Given the description of an element on the screen output the (x, y) to click on. 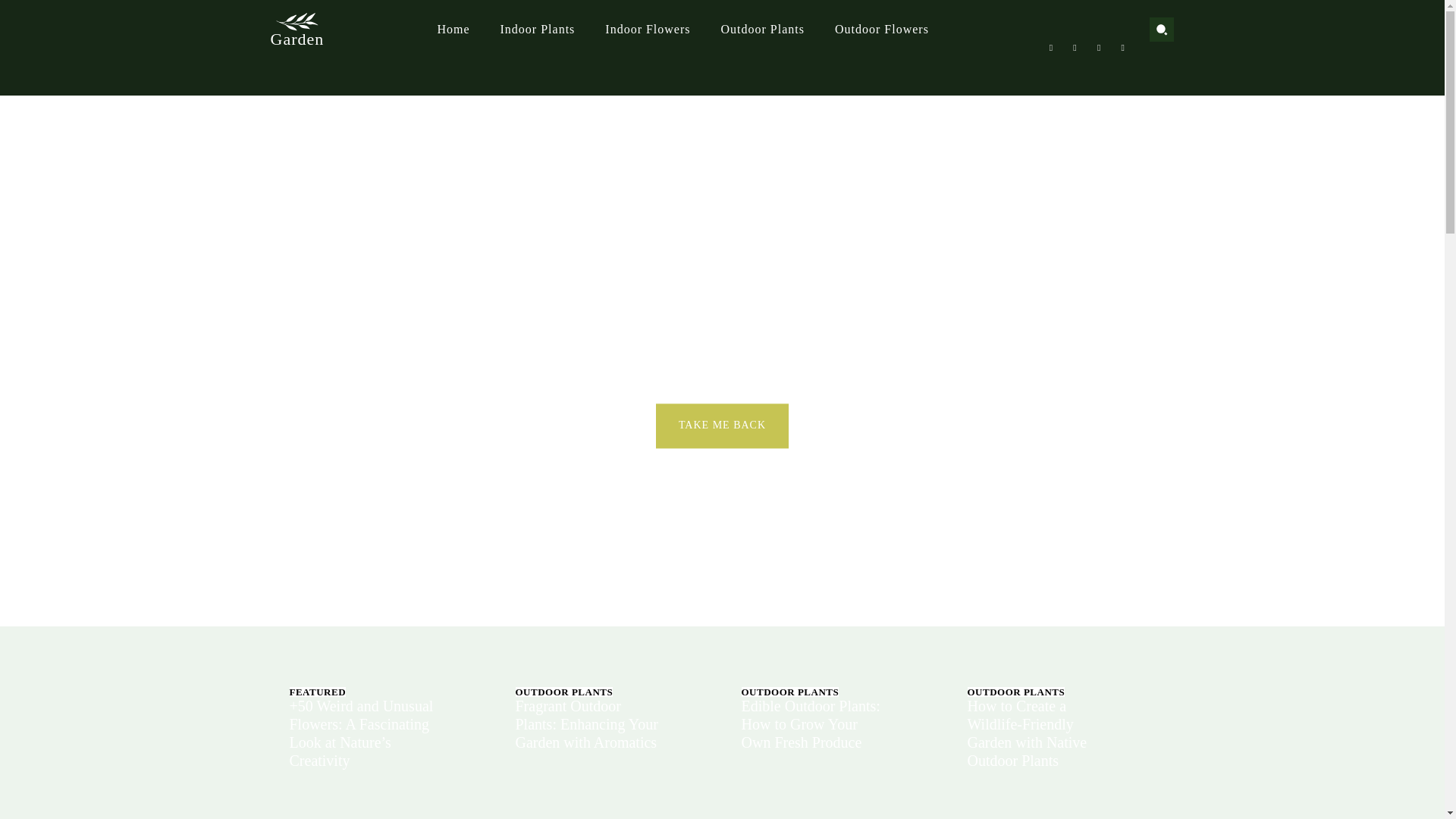
Edible Outdoor Plants: How to Grow Your Own Fresh Produce (810, 724)
Indoor Plants (537, 29)
Youtube (1123, 47)
Garden (296, 27)
Take me back (722, 425)
Home (452, 29)
Twitter (1098, 47)
FEATURED (317, 691)
Outdoor Flowers (882, 29)
Facebook (1050, 47)
TAKE ME BACK (722, 425)
Indoor Flowers (647, 29)
